Given the description of an element on the screen output the (x, y) to click on. 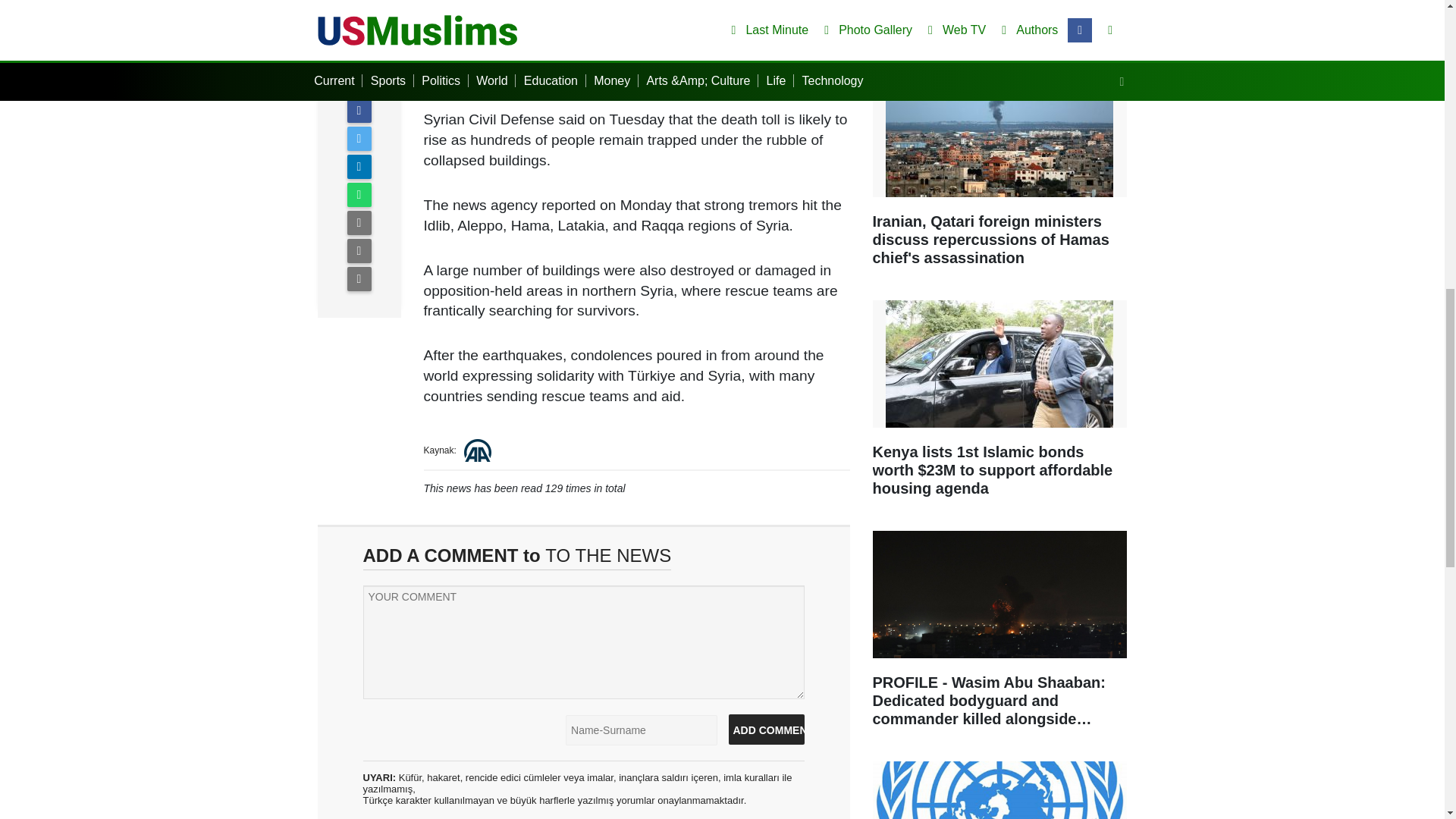
ADD COMMENT (765, 729)
ADD COMMENT (765, 729)
